Given the description of an element on the screen output the (x, y) to click on. 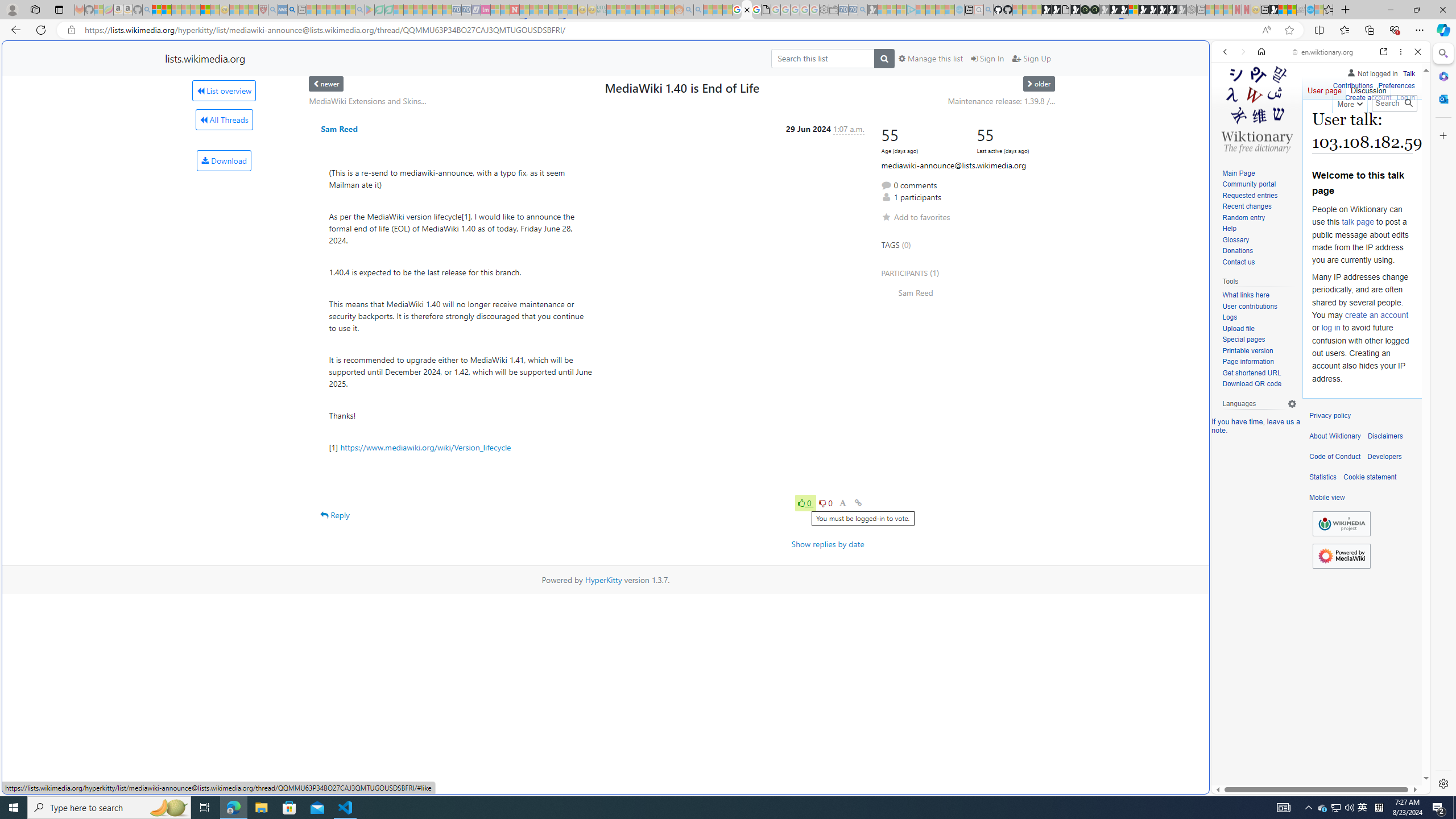
Developers (1384, 456)
Powered by MediaWiki (1341, 555)
